Given the description of an element on the screen output the (x, y) to click on. 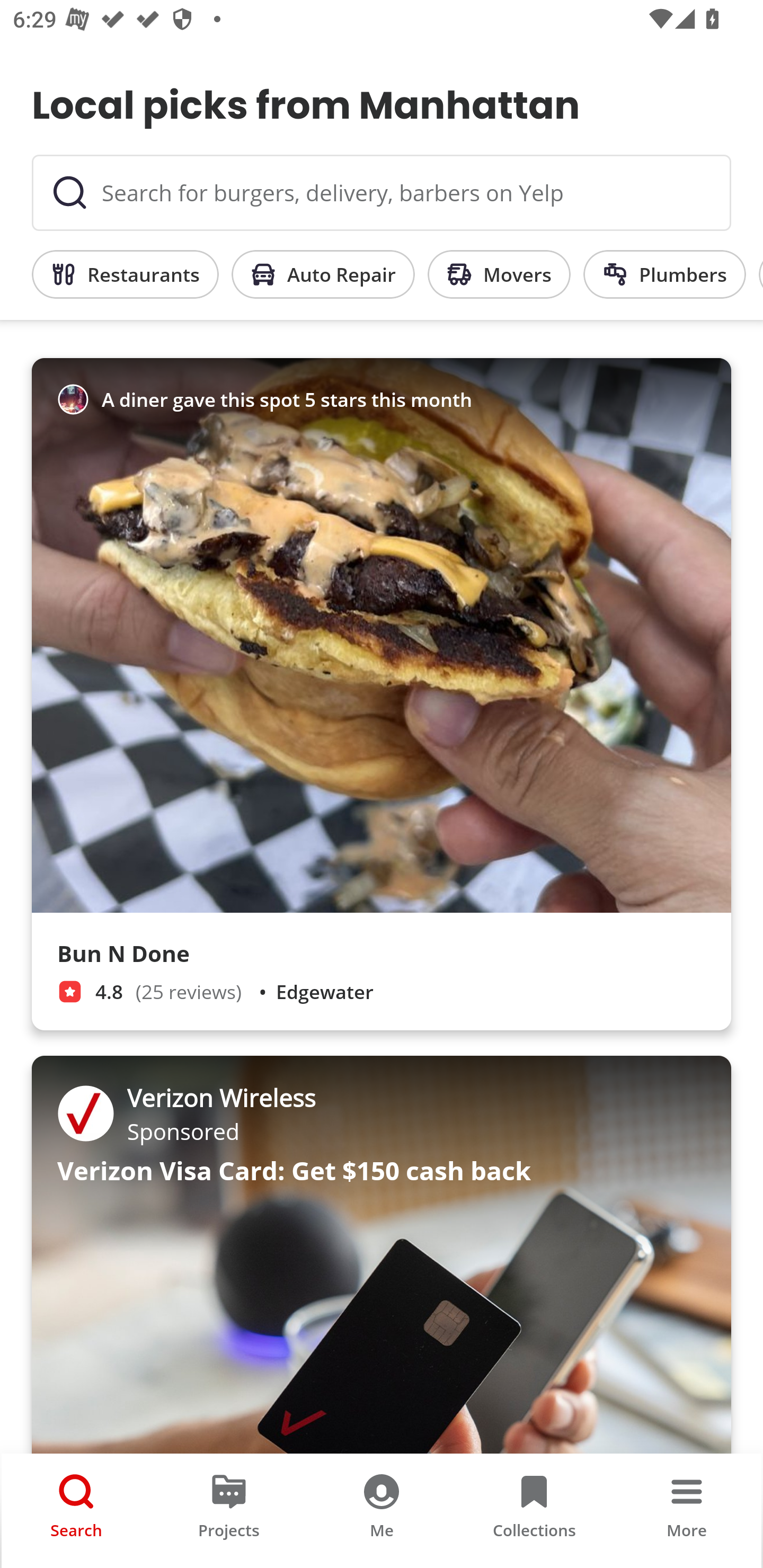
Search for burgers, delivery, barbers on Yelp (381, 192)
